Given the description of an element on the screen output the (x, y) to click on. 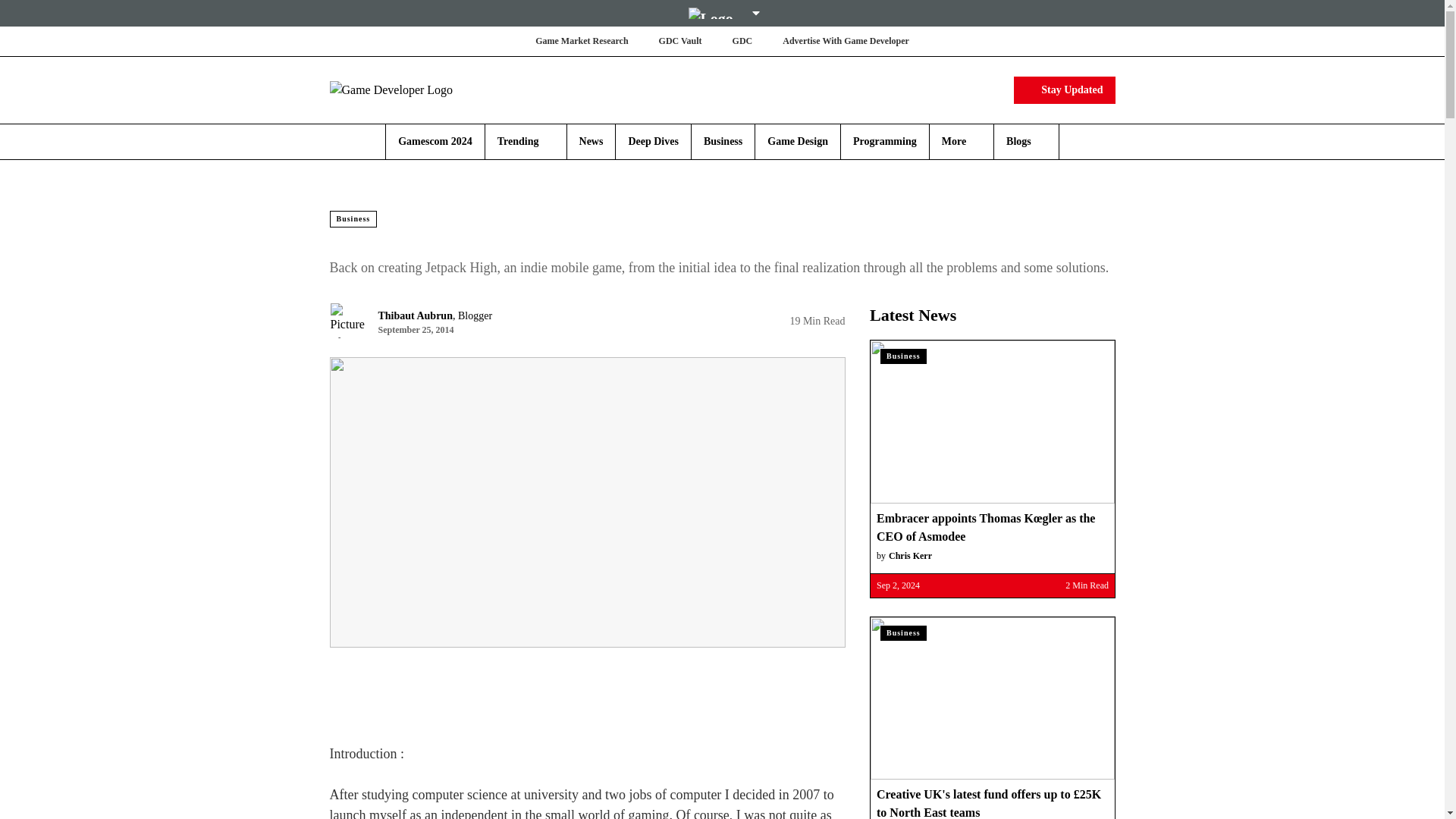
GDC Vault (680, 41)
Deep Dives (652, 141)
Picture of Thibaut Aubrun (347, 320)
Business (722, 141)
Gamescom 2024 (434, 141)
Game Market Research (581, 41)
Stay Updated (1064, 89)
Advertise With Game Developer (845, 41)
Game Developer Logo (419, 90)
GDC (742, 41)
